Given the description of an element on the screen output the (x, y) to click on. 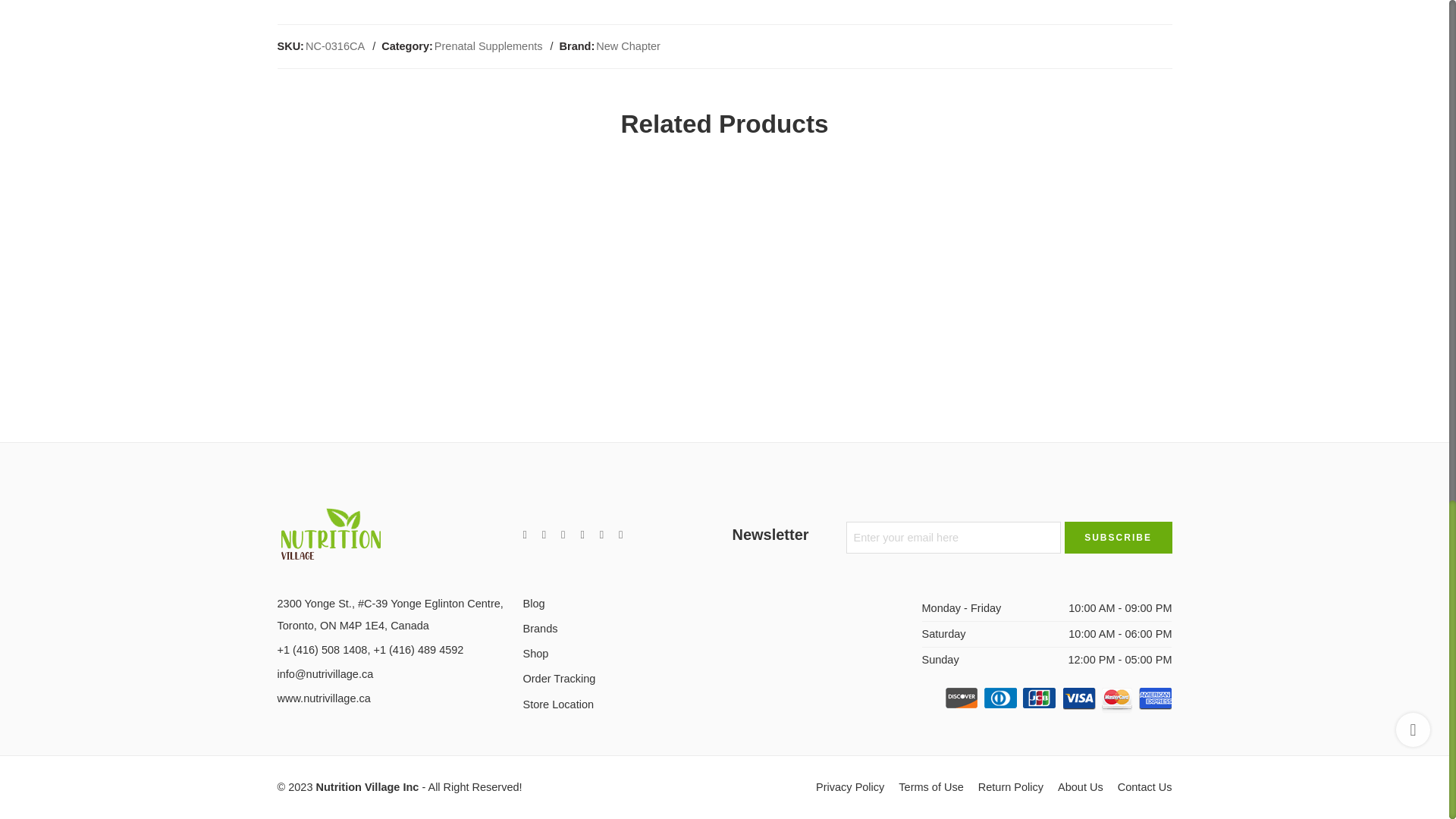
SUBSCRIBE (1118, 537)
